Given the description of an element on the screen output the (x, y) to click on. 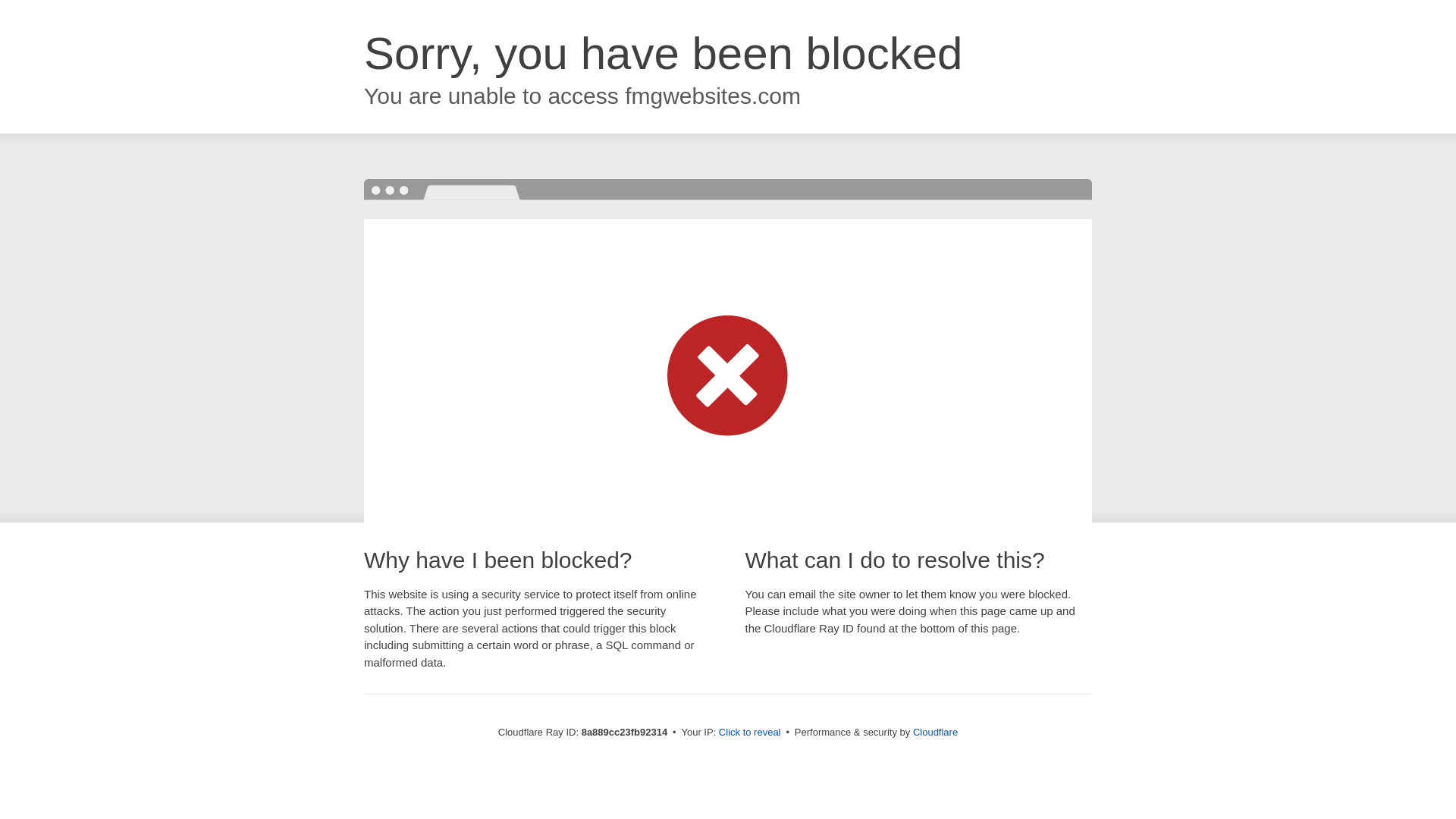
Click to reveal (749, 732)
Cloudflare (935, 731)
